Given the description of an element on the screen output the (x, y) to click on. 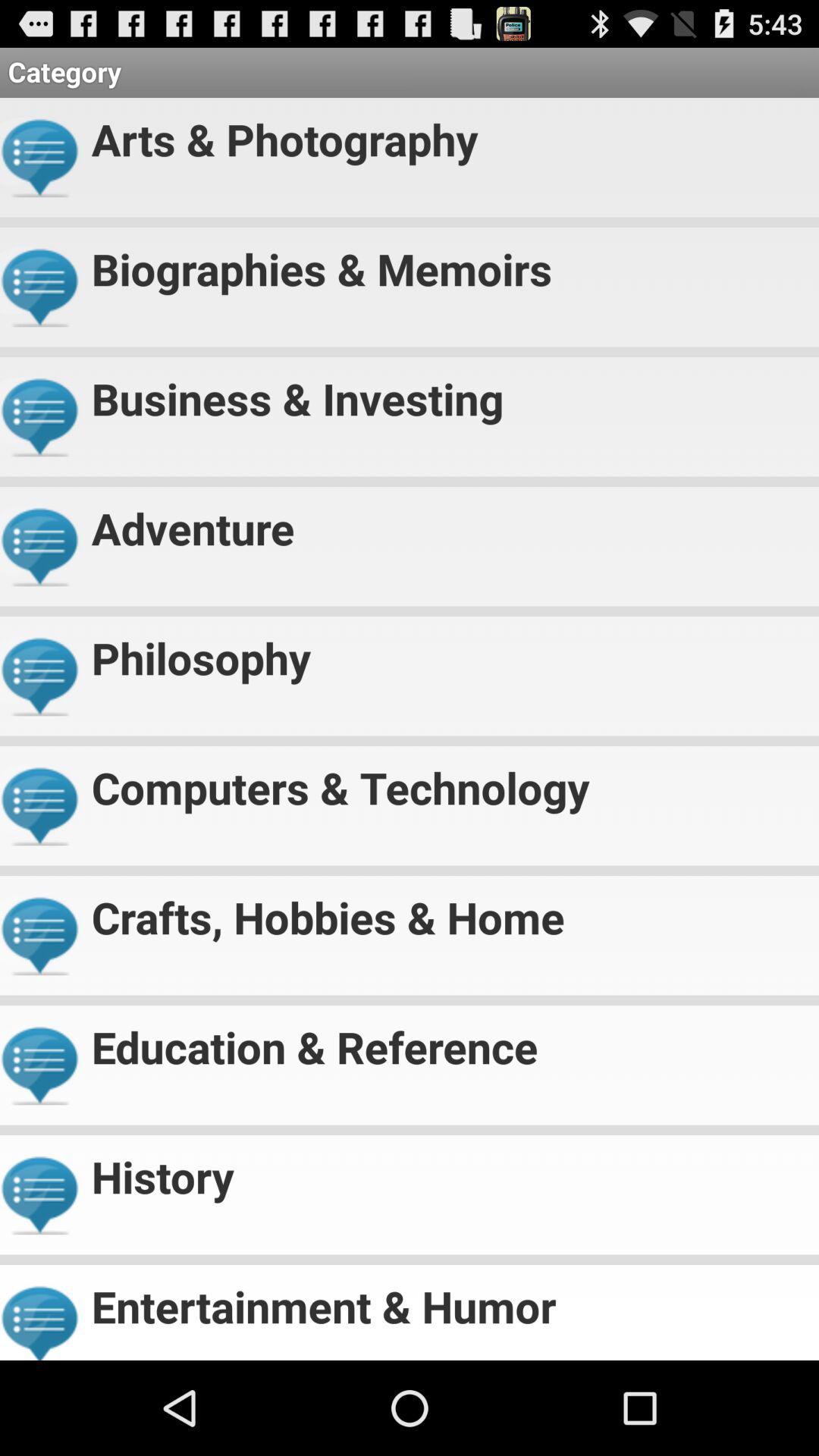
swipe to the computers & technology (449, 781)
